Given the description of an element on the screen output the (x, y) to click on. 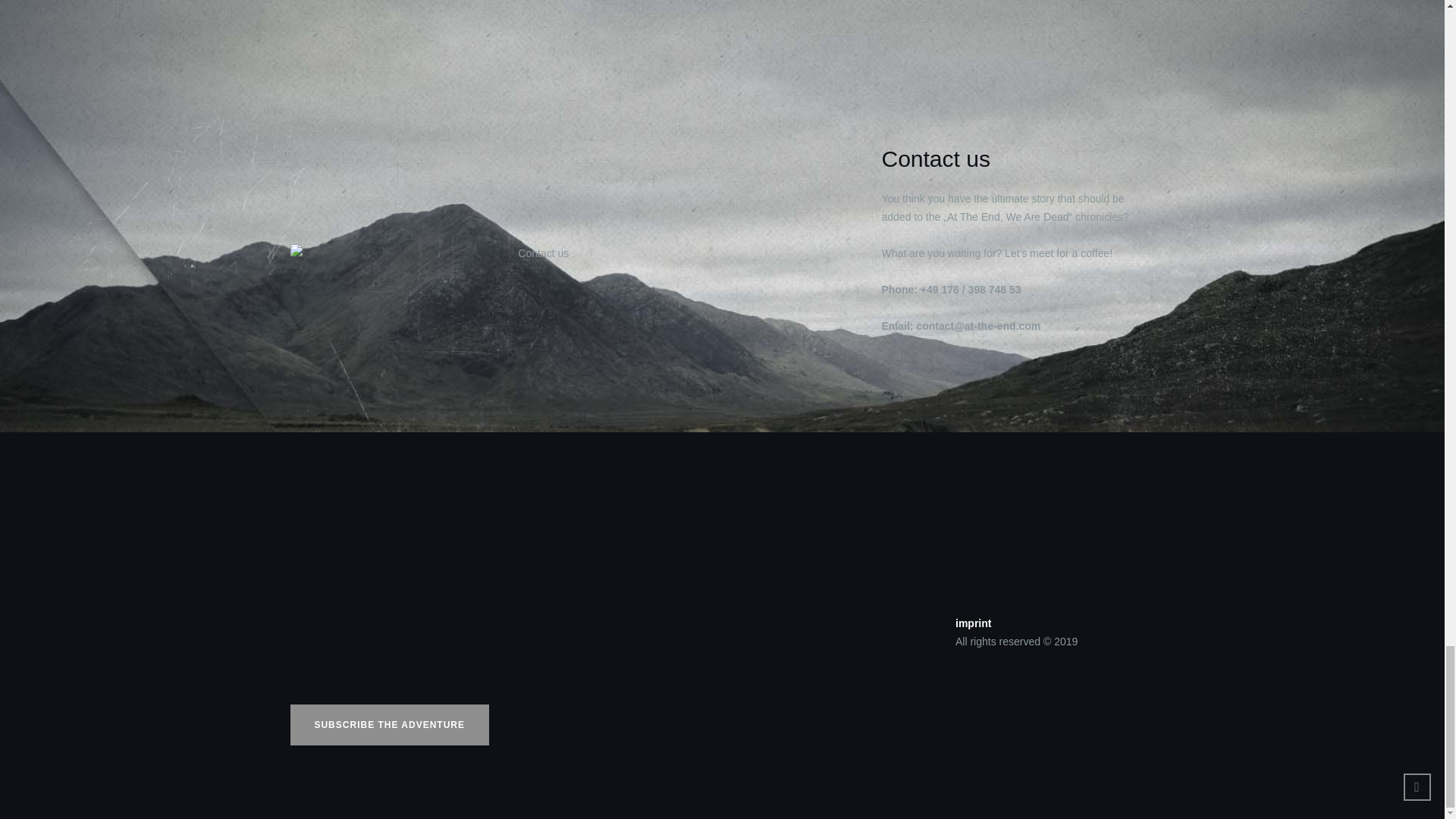
SUBSCRIBE THE ADVENTURE (389, 724)
imprint (973, 623)
